Given the description of an element on the screen output the (x, y) to click on. 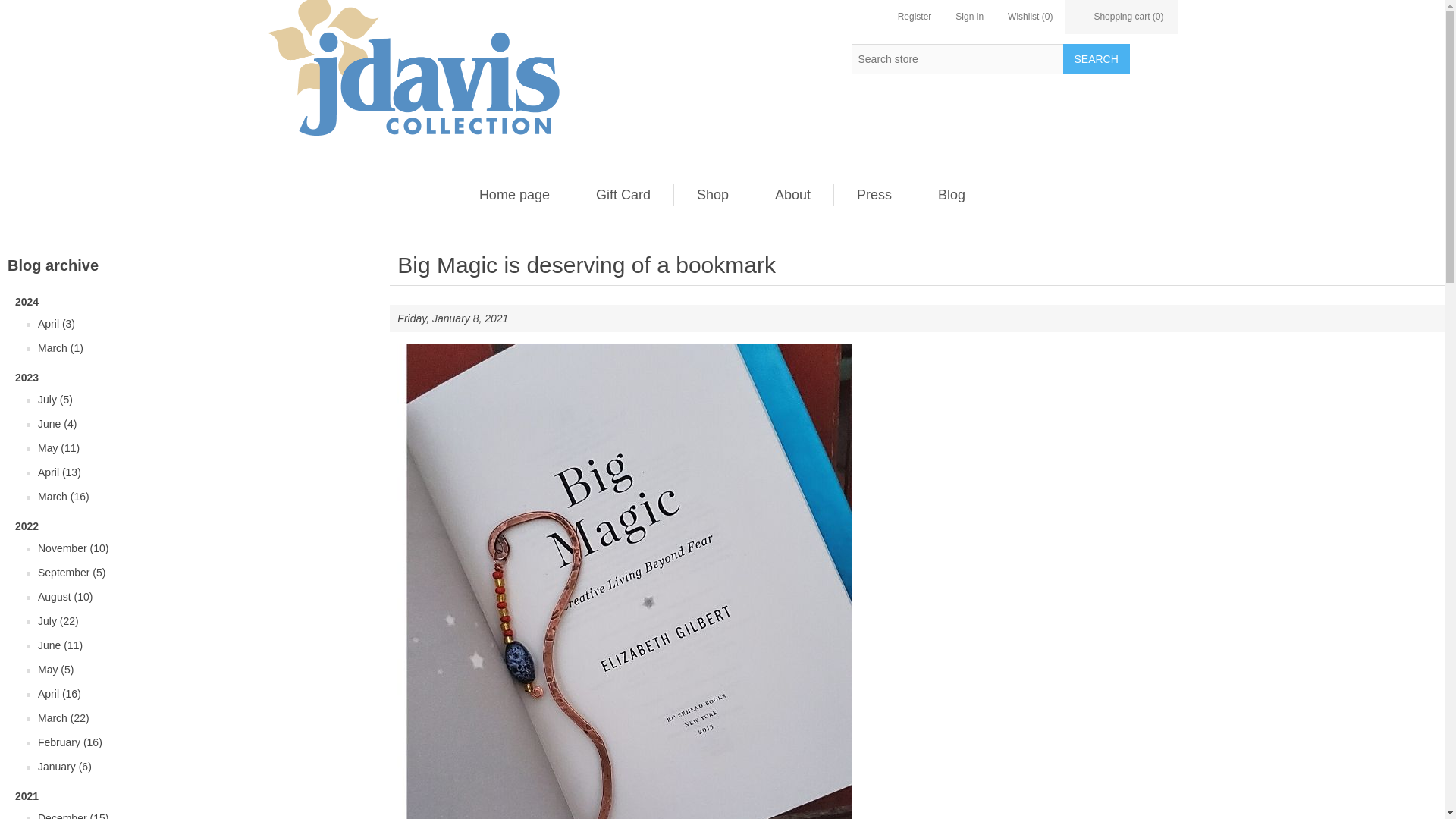
Home page (514, 194)
Gift Card (623, 194)
Register (914, 17)
Press (873, 194)
About (792, 194)
Shop (712, 194)
SEARCH (1095, 59)
Blog (951, 194)
